Given the description of an element on the screen output the (x, y) to click on. 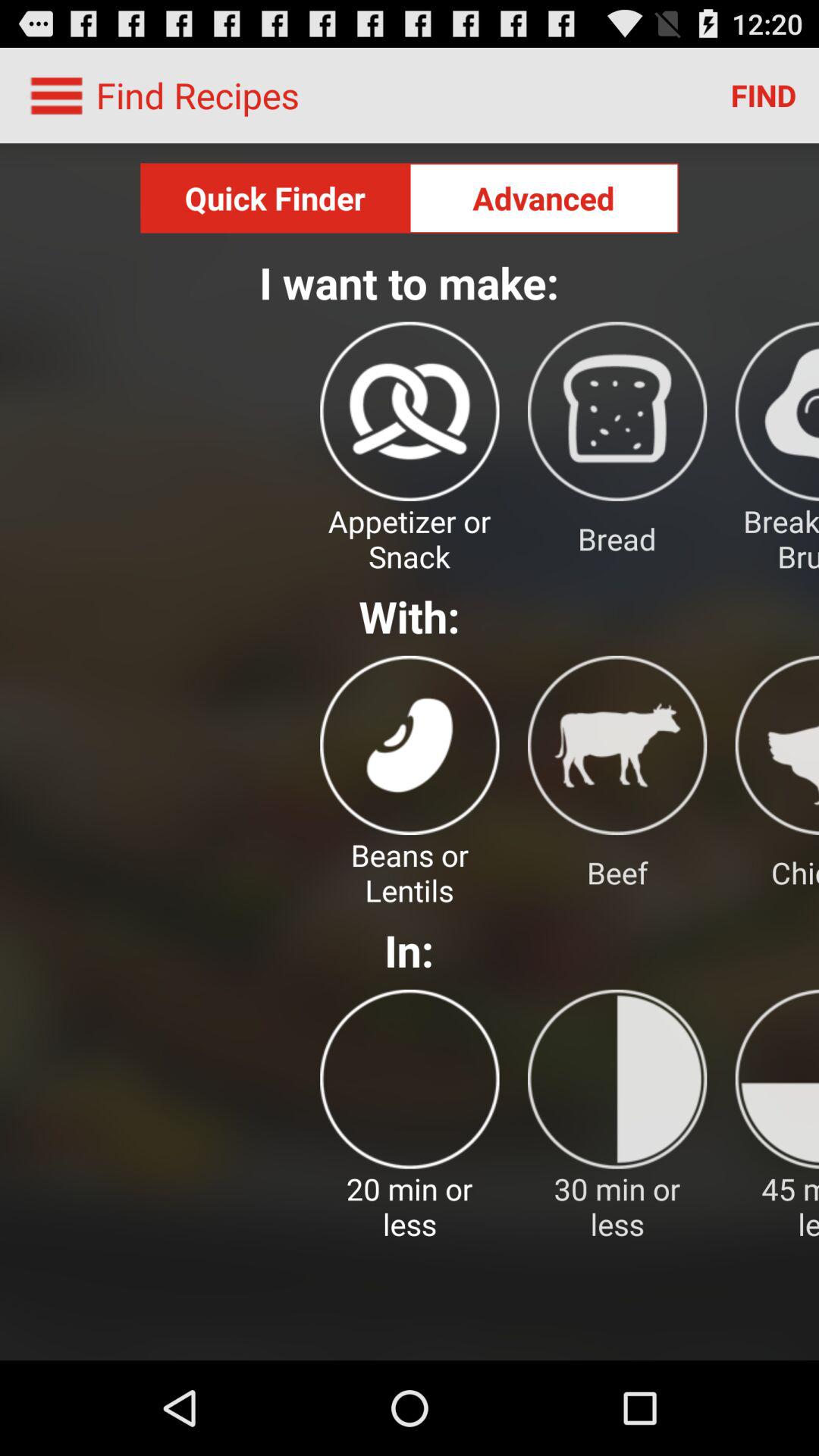
press icon to the right of the quick finder item (543, 198)
